Given the description of an element on the screen output the (x, y) to click on. 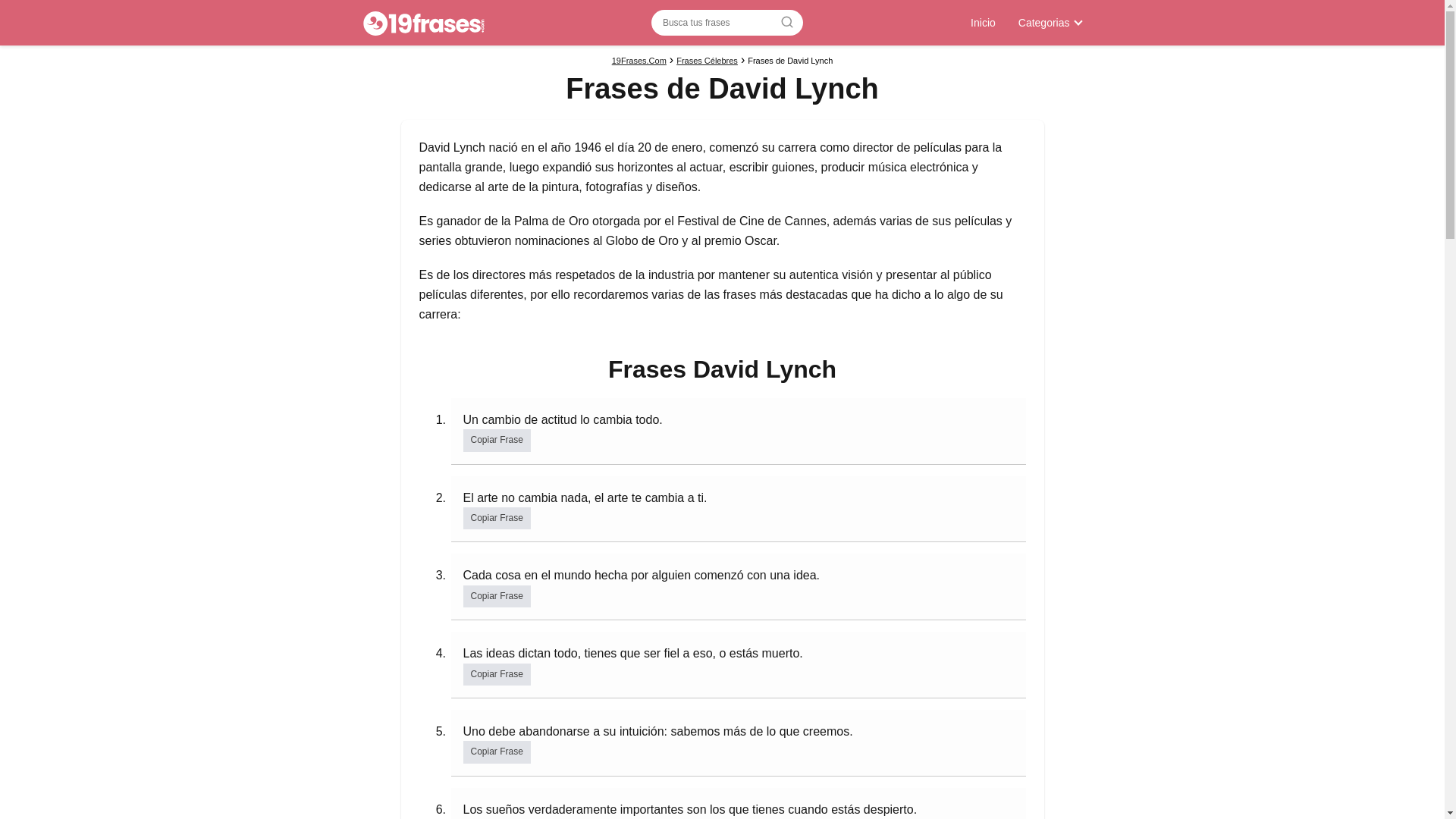
Copiar Frase Element type: text (496, 596)
Copiar Frase Element type: text (496, 751)
Inicio Element type: text (982, 22)
Copiar Frase Element type: text (496, 674)
Copiar Frase Element type: text (496, 440)
Categorias Element type: text (1047, 22)
19Frases.Com Element type: text (638, 60)
Copiar Frase Element type: text (496, 518)
